Given the description of an element on the screen output the (x, y) to click on. 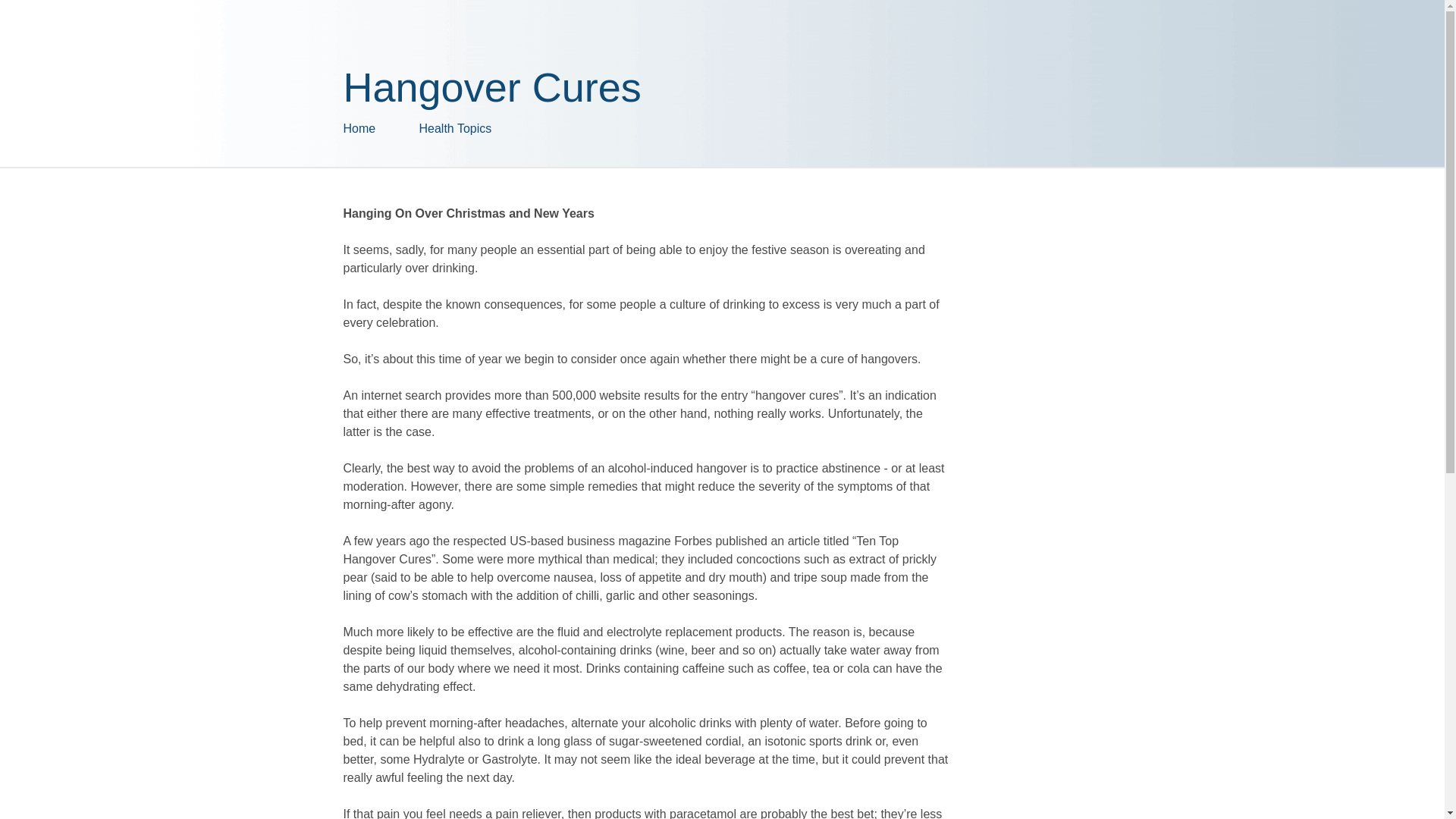
Health Topics (494, 128)
Home (380, 128)
